Given the description of an element on the screen output the (x, y) to click on. 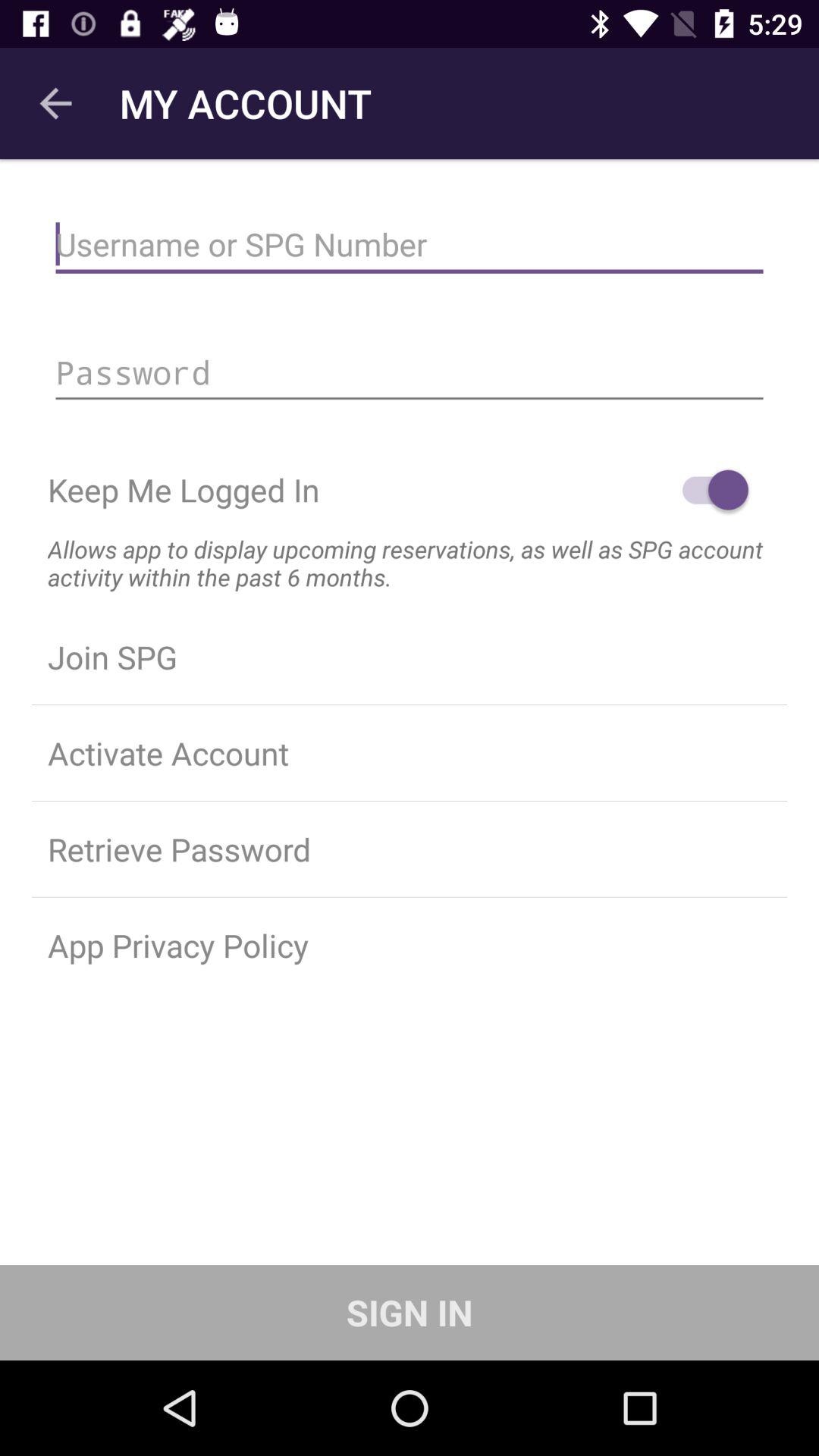
turn off retrieve password (409, 848)
